Given the description of an element on the screen output the (x, y) to click on. 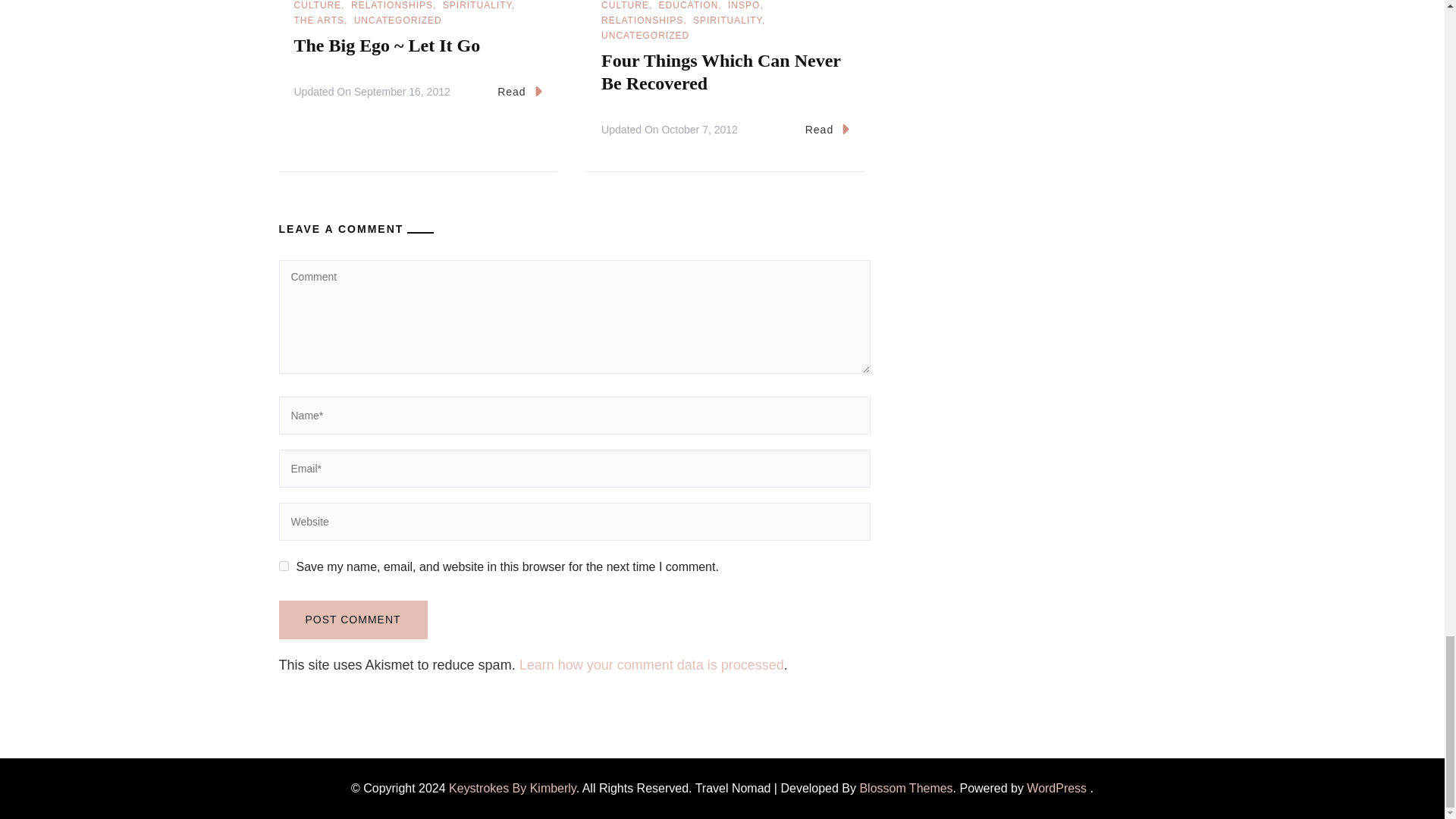
yes (283, 565)
Post Comment (353, 619)
